Given the description of an element on the screen output the (x, y) to click on. 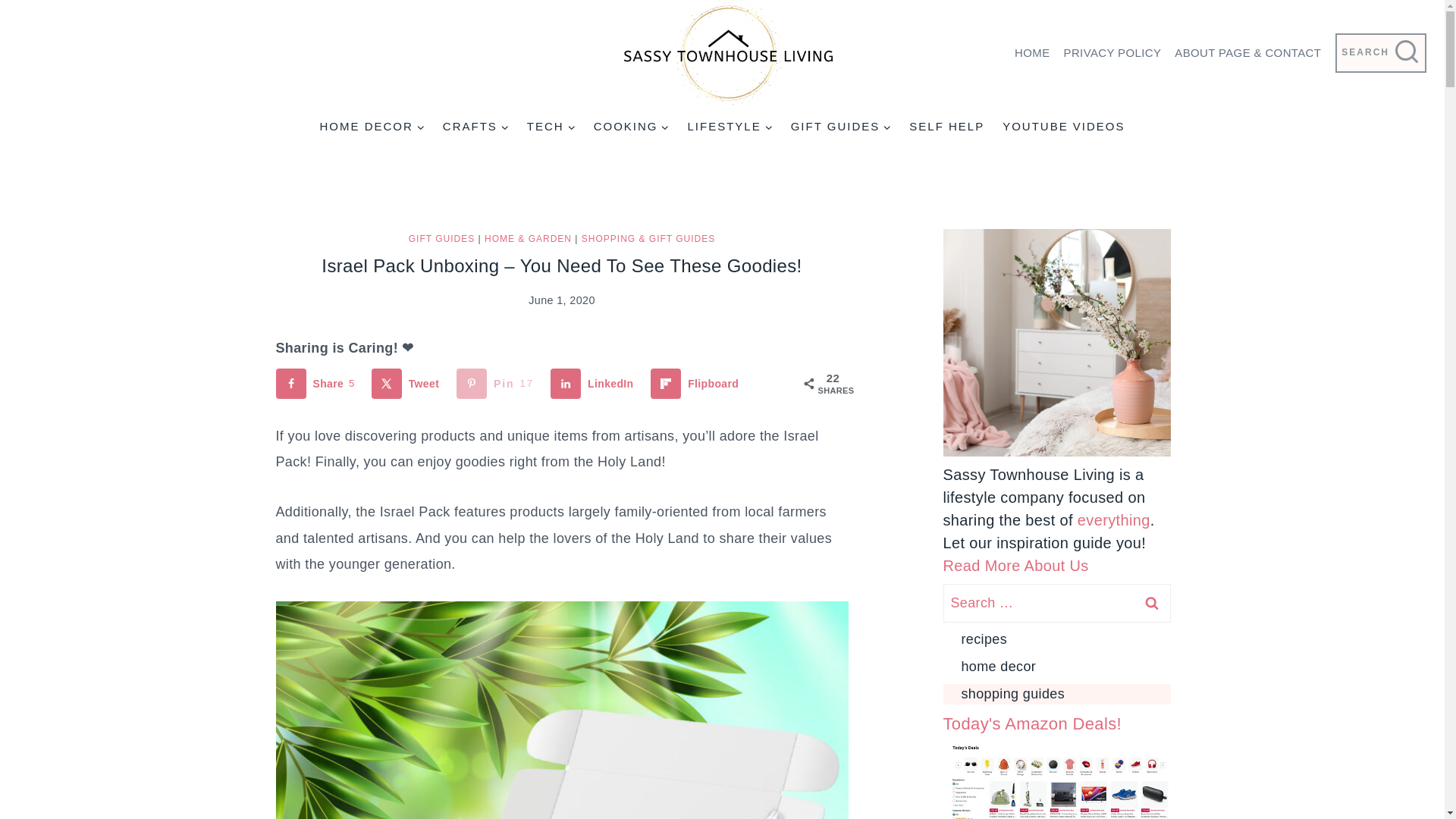
HOME DECOR (371, 126)
TECH (551, 126)
CRAFTS (475, 126)
Search (1151, 602)
Share on LinkedIn (595, 383)
HOME (1032, 53)
GIFT GUIDES (841, 126)
LIFESTYLE (729, 126)
Share on Facebook (318, 383)
Search (1151, 602)
Share on X (408, 383)
Share on Flipboard (697, 383)
COOKING (631, 126)
Save to Pinterest (498, 383)
PRIVACY POLICY (1113, 53)
